Given the description of an element on the screen output the (x, y) to click on. 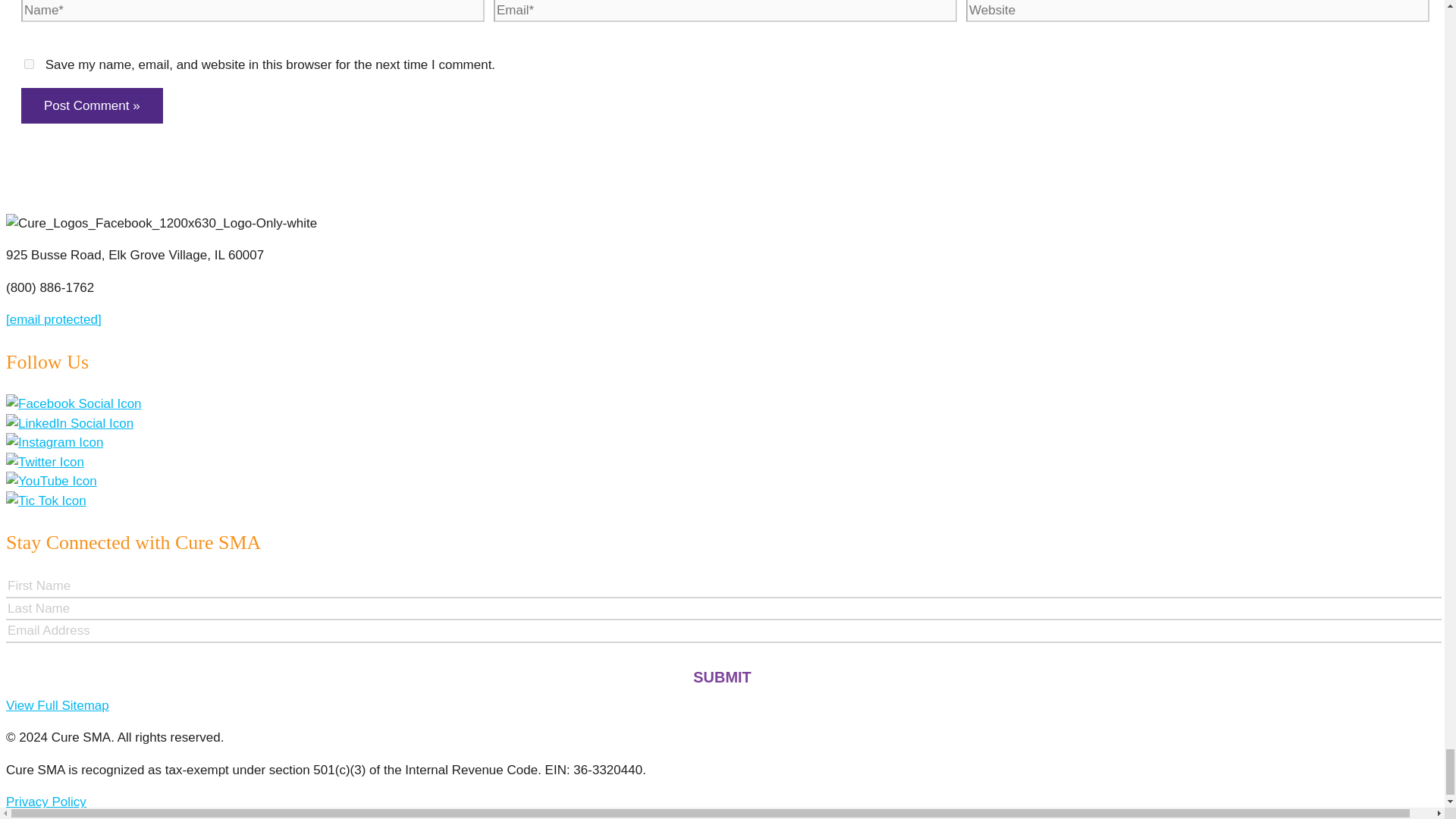
Email Address (723, 630)
yes (28, 63)
Last Name (723, 609)
First Name (723, 586)
Submit (721, 677)
